Given the description of an element on the screen output the (x, y) to click on. 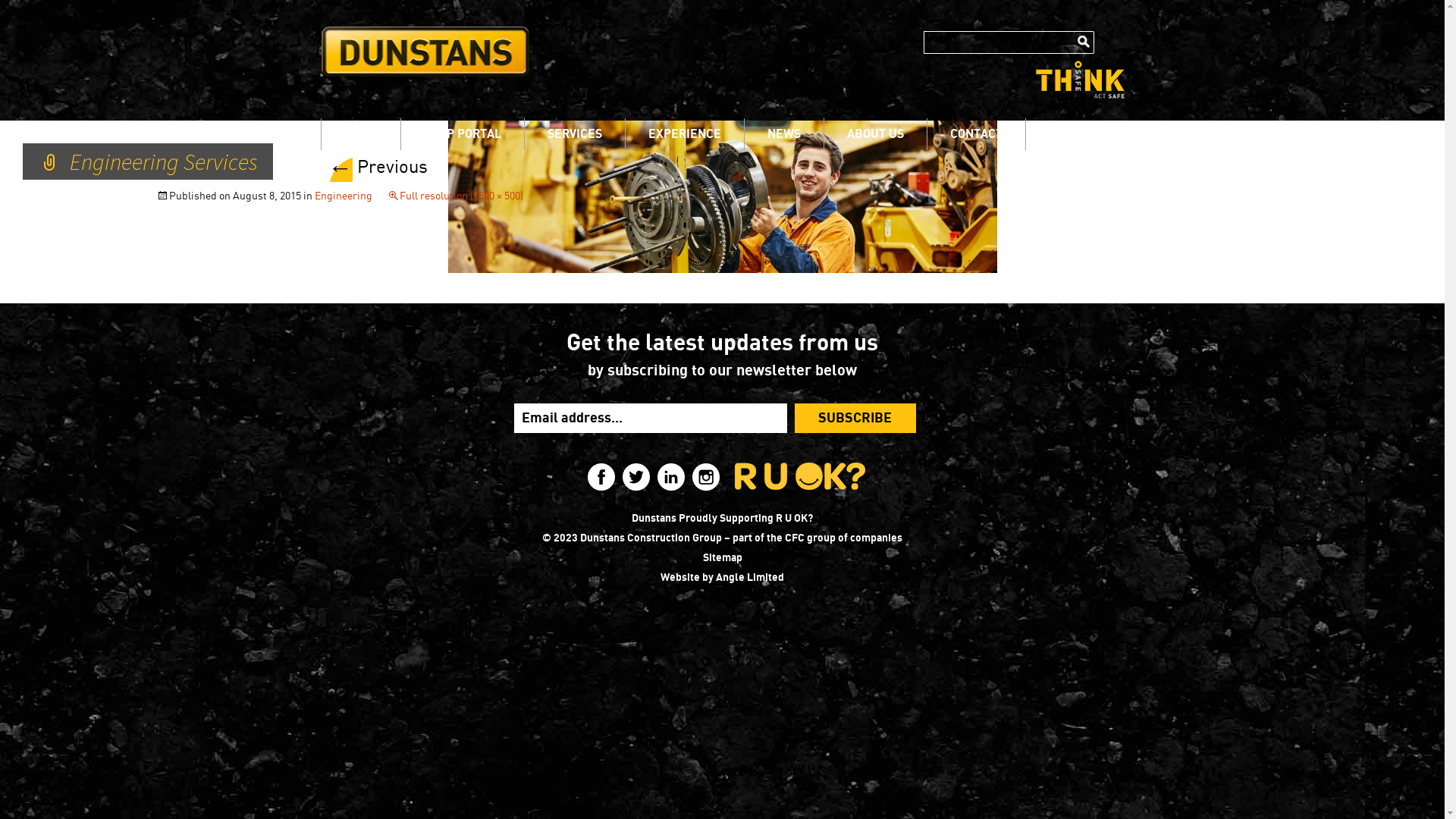
Sitemap Element type: text (721, 557)
Skip to content Element type: text (320, 117)
Engineering Element type: text (343, 196)
HOME Element type: text (360, 134)
Search Element type: text (1083, 42)
ABOUT US Element type: text (874, 134)
NEWS Element type: text (783, 134)
CONTACT Element type: text (975, 134)
EGRP PORTAL Element type: text (461, 134)
EXPERIENCE Element type: text (683, 134)
Engineering Services Element type: hover (721, 195)
Website by Angle Limited Element type: text (722, 577)
SUBSCRIBE Element type: text (855, 418)
SERVICES Element type: text (574, 134)
